Given the description of an element on the screen output the (x, y) to click on. 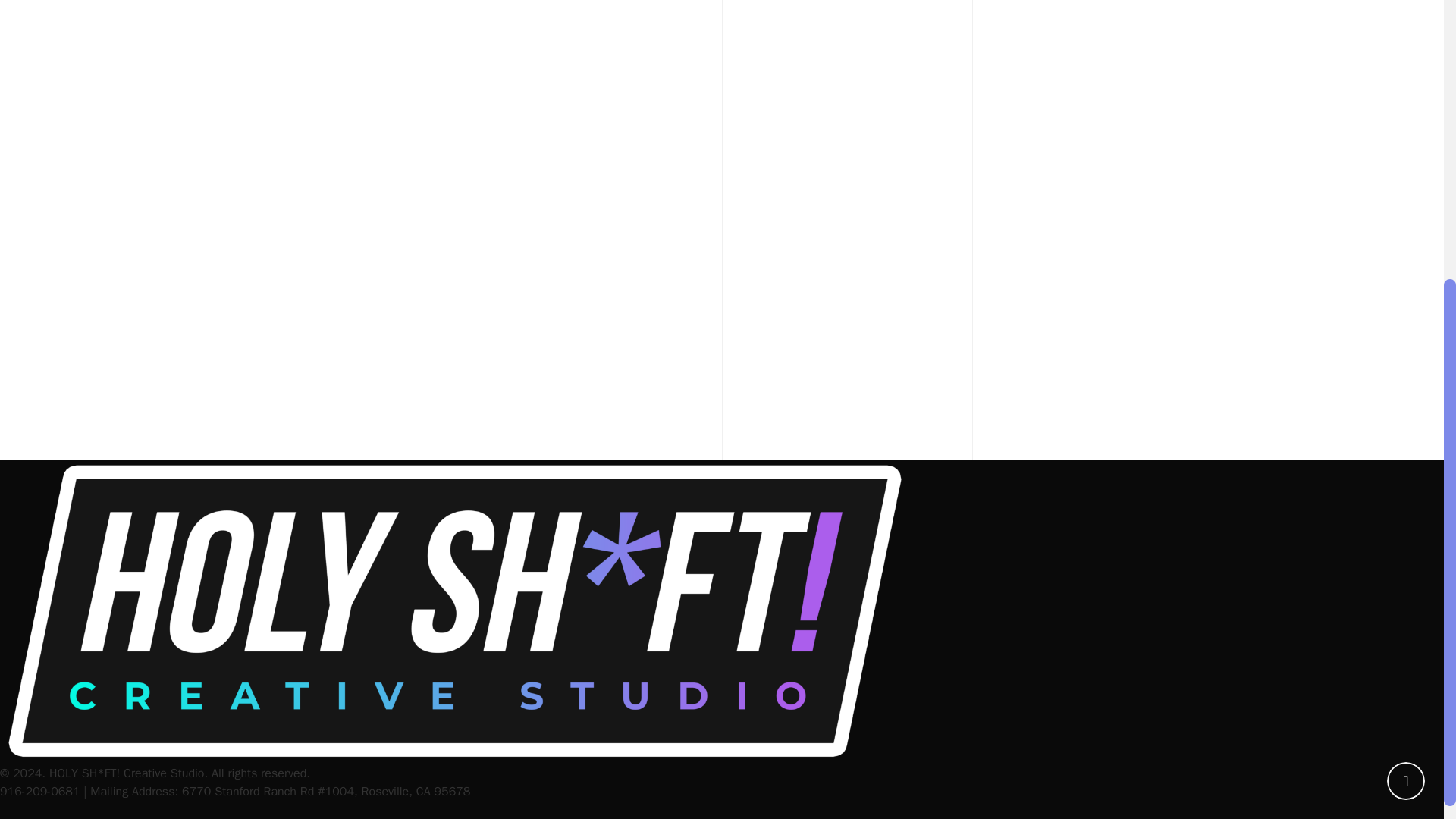
916-209-0681 (40, 791)
